Given the description of an element on the screen output the (x, y) to click on. 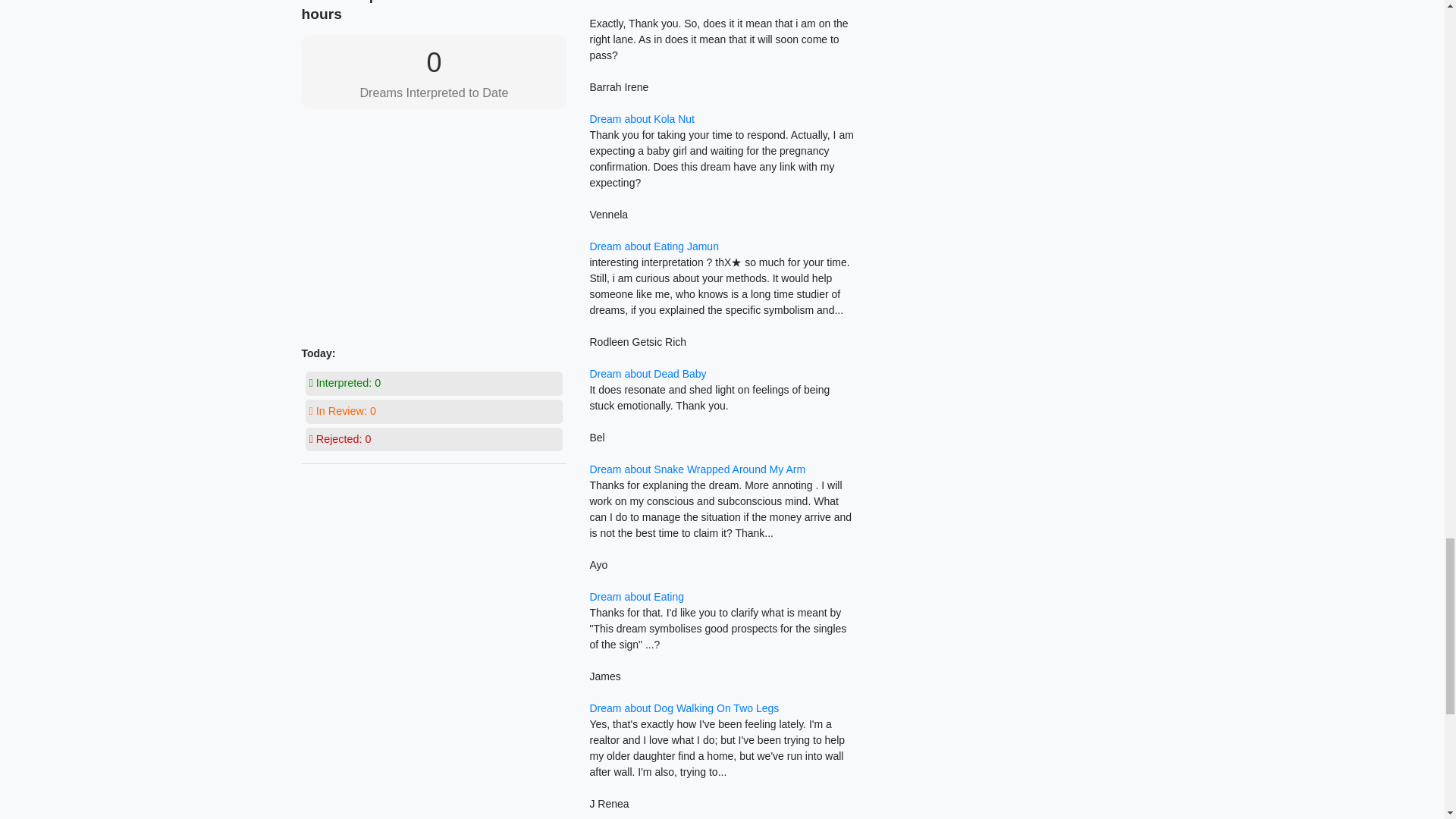
Dream about Dog Walking On Two Legs (683, 707)
Dream about Snake Wrapped Around My Arm (697, 469)
Dream about Kola Nut (641, 119)
Dream about Eating Jamun (653, 246)
Dream about Dead Baby (647, 373)
Dream about Eating (636, 596)
